Given the description of an element on the screen output the (x, y) to click on. 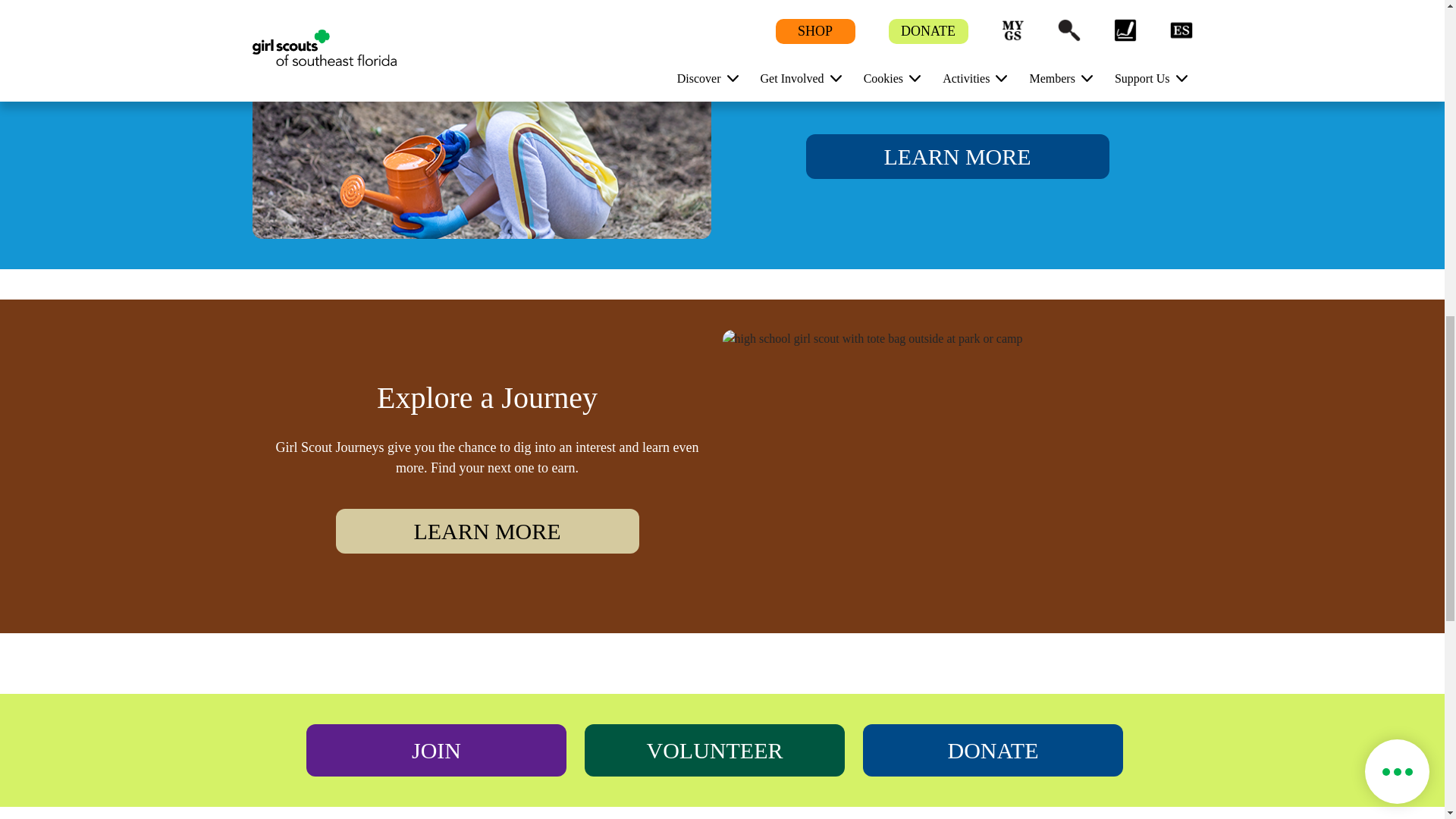
LEARN MORE (486, 530)
LEARN MORE (956, 156)
high school girl scout with tote bag outside at park or camp (957, 466)
